Given the description of an element on the screen output the (x, y) to click on. 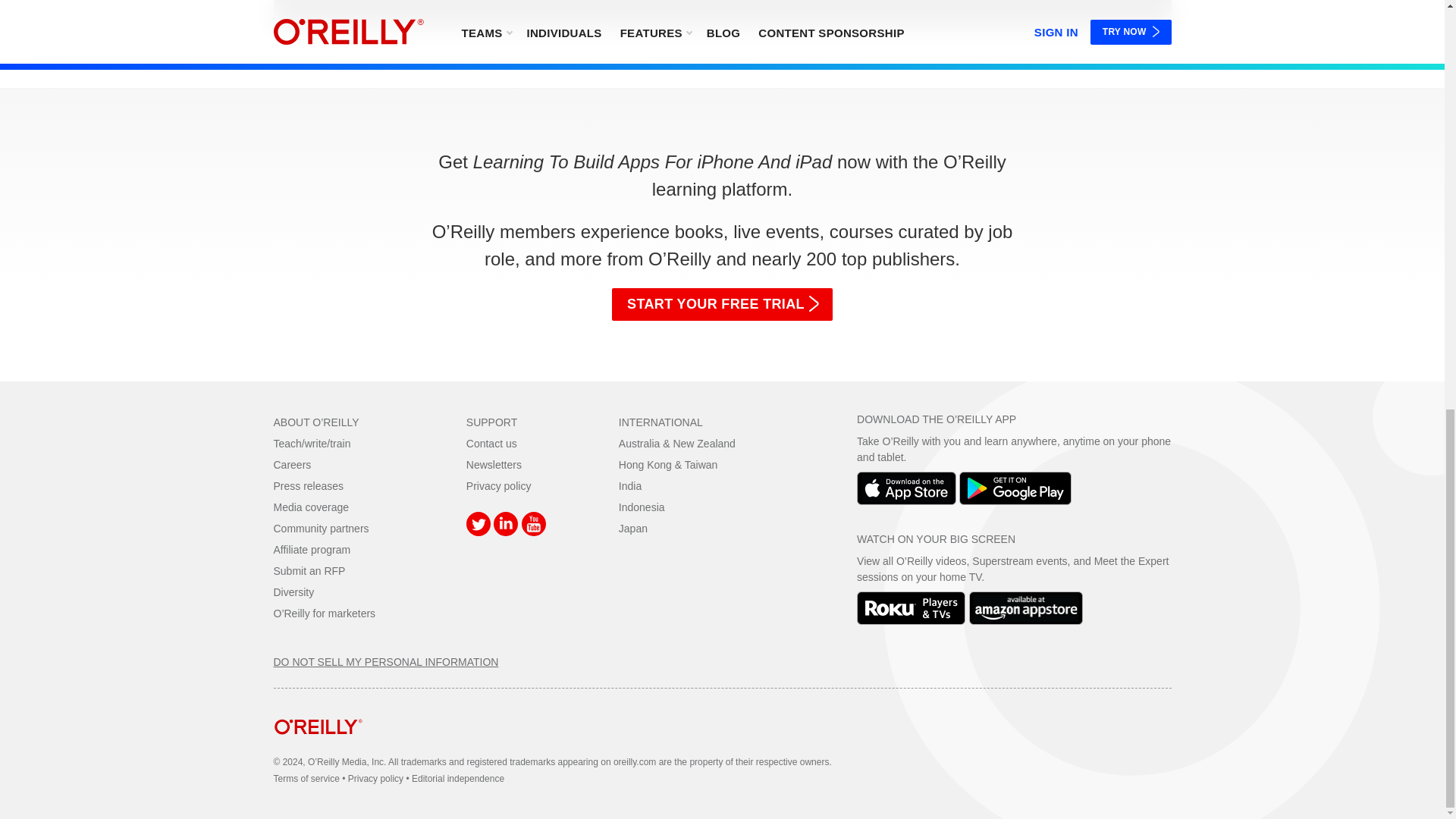
START YOUR FREE TRIAL (721, 304)
Media coverage (311, 507)
Careers (292, 464)
Press releases (308, 485)
Community partners (320, 528)
home page (317, 745)
